Given the description of an element on the screen output the (x, y) to click on. 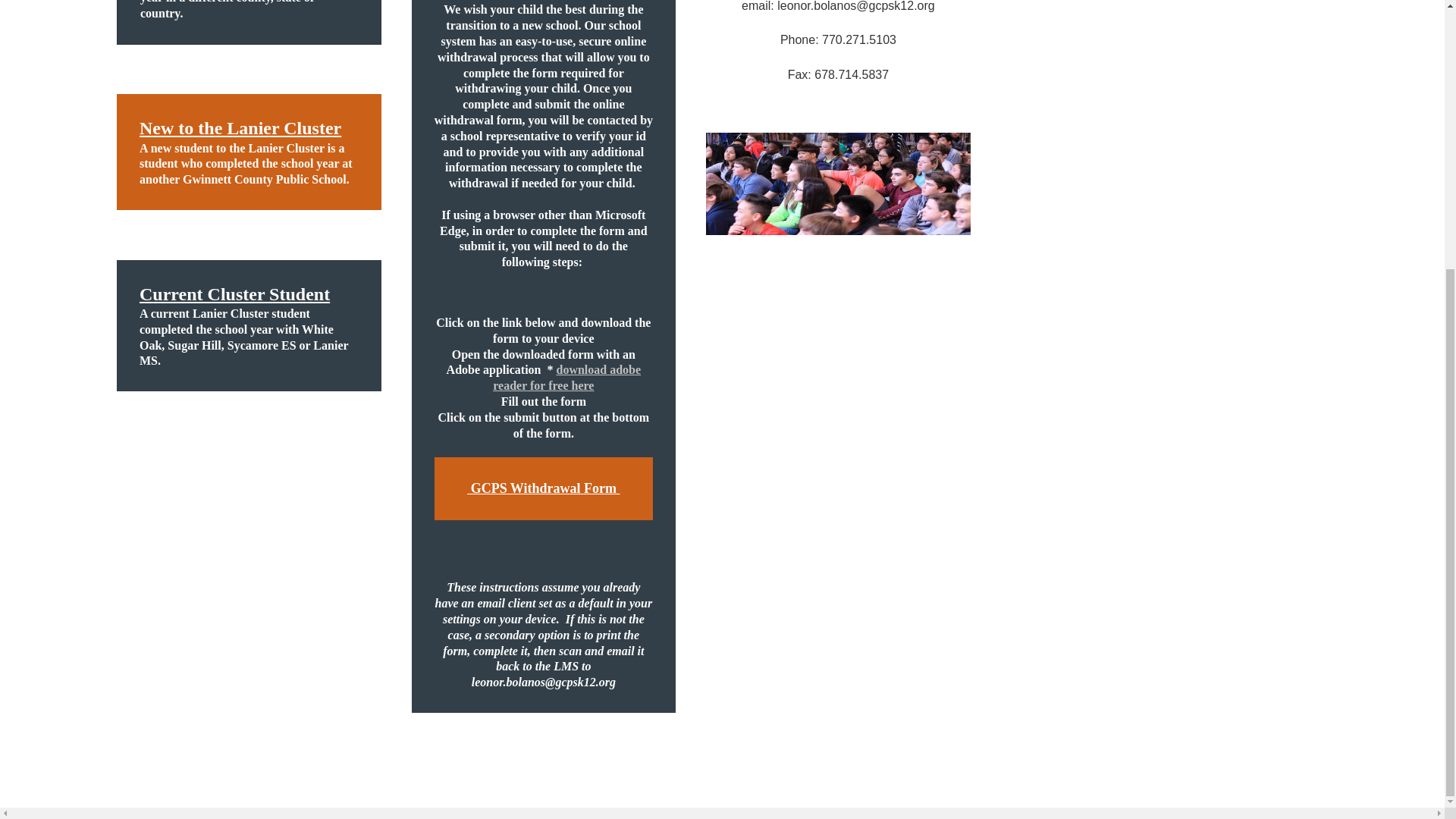
Registration (838, 183)
